Given the description of an element on the screen output the (x, y) to click on. 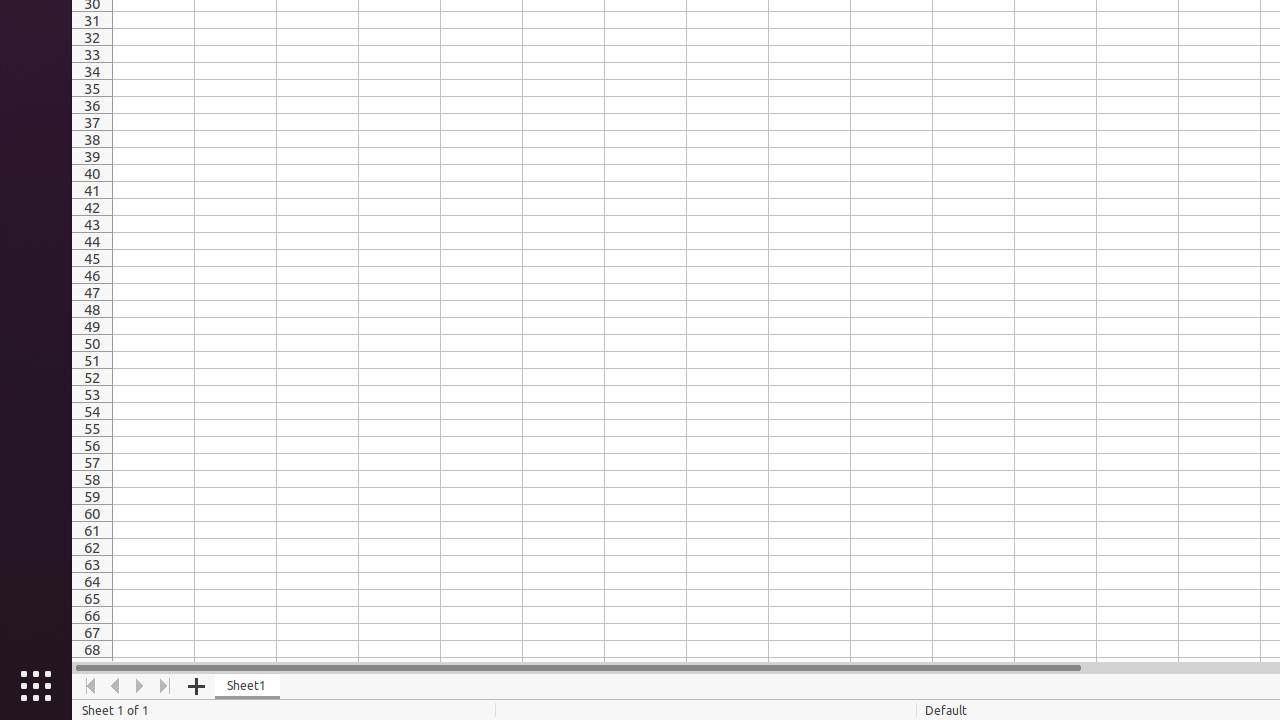
Move Left Element type: push-button (115, 686)
